Given the description of an element on the screen output the (x, y) to click on. 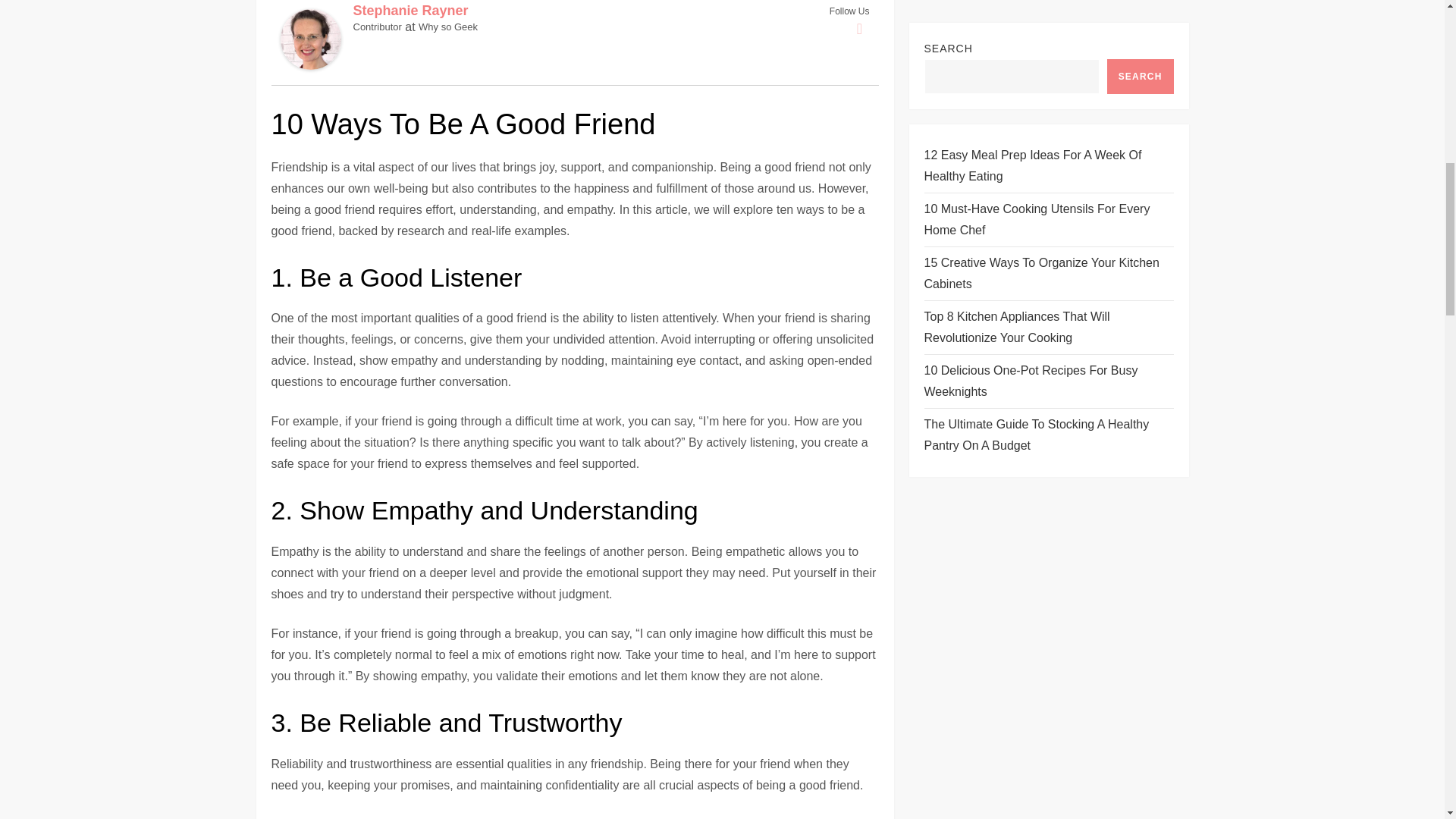
Facebook (859, 28)
Stephanie Rayner (410, 10)
Stephanie Rayner (310, 38)
